Given the description of an element on the screen output the (x, y) to click on. 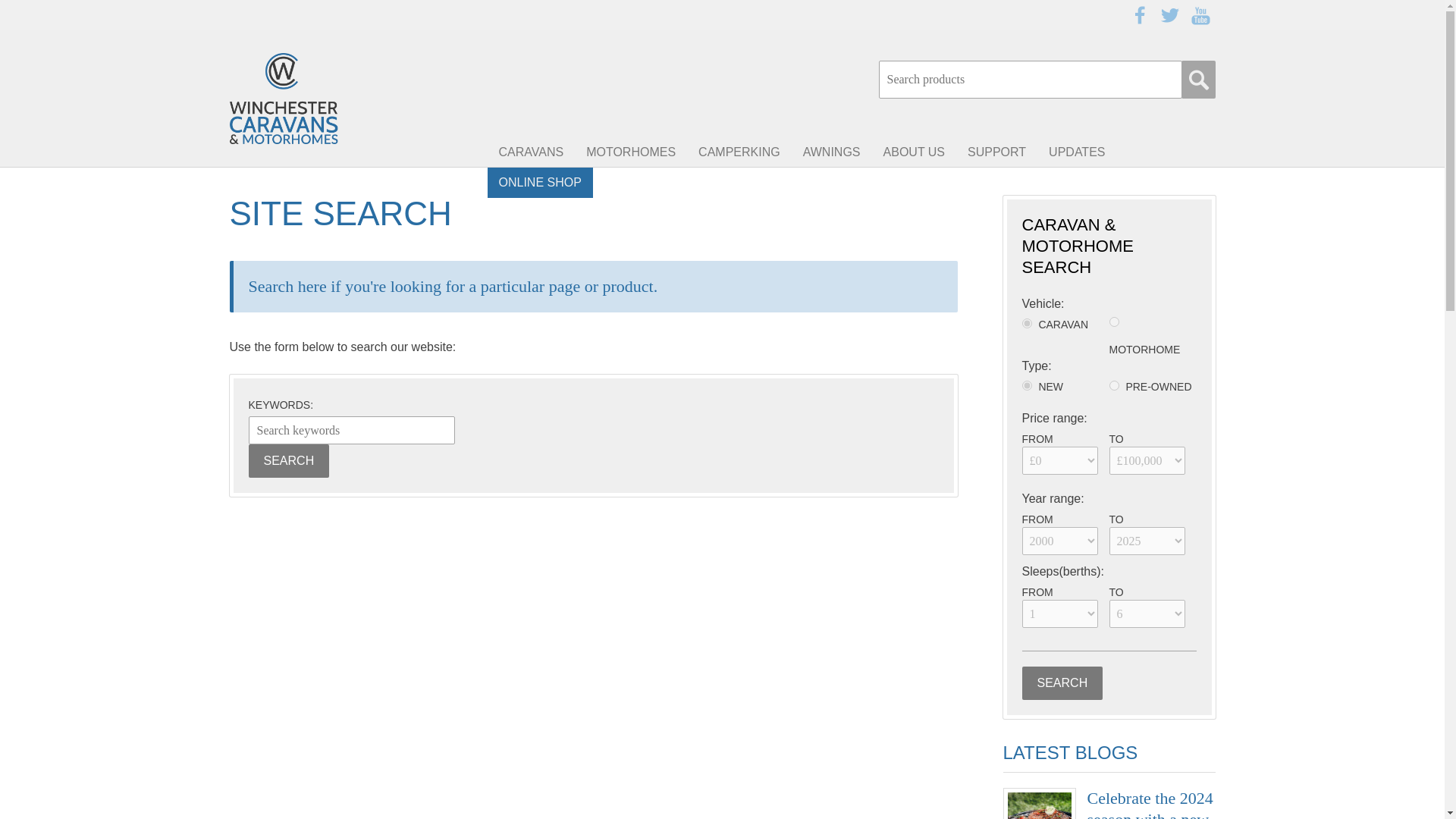
Back to the homepage... (319, 98)
Twitter (1169, 15)
Search (1062, 683)
used (1113, 385)
Facebook (1139, 15)
Follow us on Twitter (1169, 15)
new (1027, 385)
View our videos on YouTube (1199, 15)
Search (289, 460)
CARAVANS (530, 152)
